Given the description of an element on the screen output the (x, y) to click on. 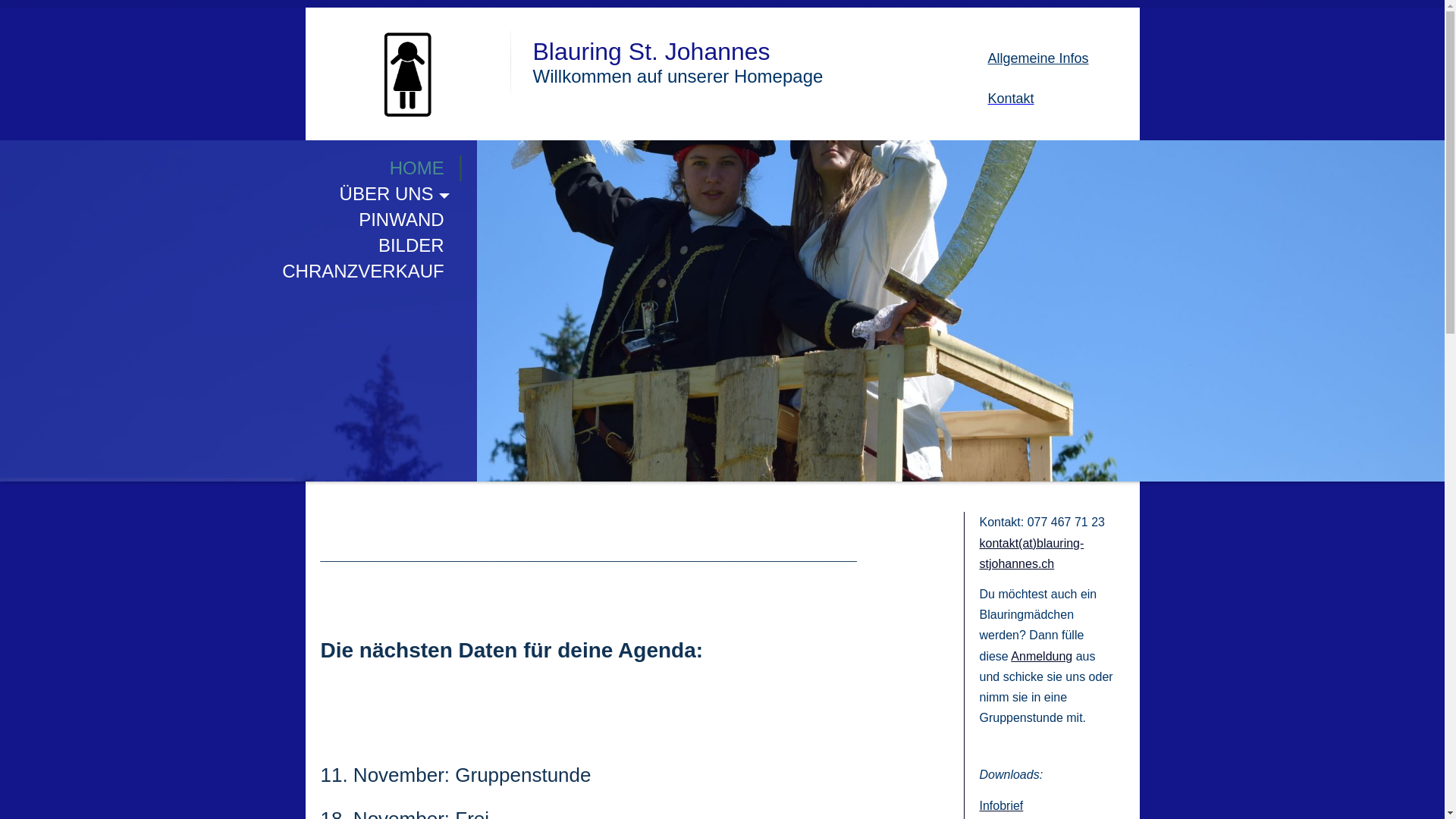
BILDER Element type: text (230, 245)
PINWAND Element type: text (230, 219)
CHRANZVERKAUF Element type: text (230, 271)
Infobrief Element type: text (1001, 806)
HOME Element type: text (230, 168)
kontakt(at)blauring-stjohannes.ch Element type: text (1031, 553)
  Element type: text (406, 37)
Allgemeine Infos Element type: text (1037, 57)
Kontakt Element type: text (1010, 99)
Anmeldung Element type: text (1041, 655)
